Given the description of an element on the screen output the (x, y) to click on. 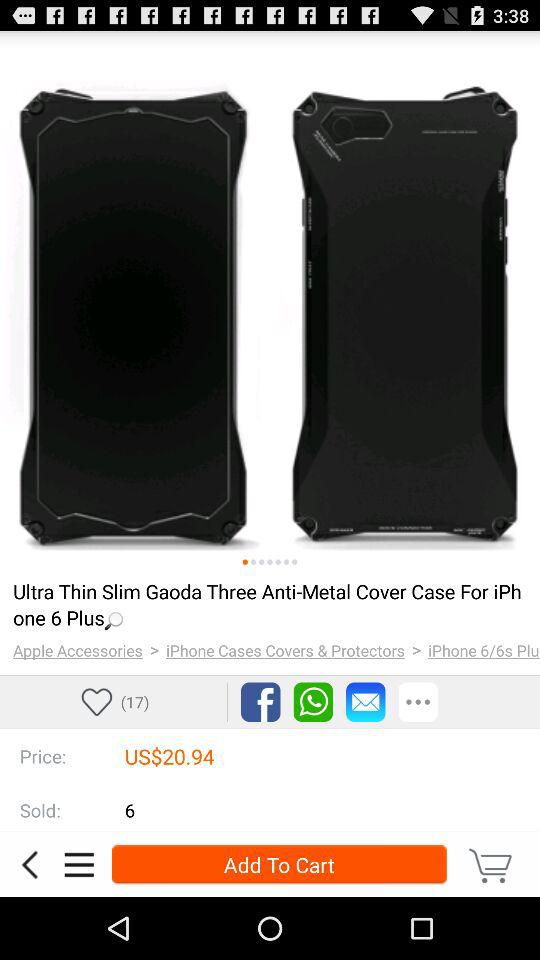
displays second image in a series (253, 561)
